Given the description of an element on the screen output the (x, y) to click on. 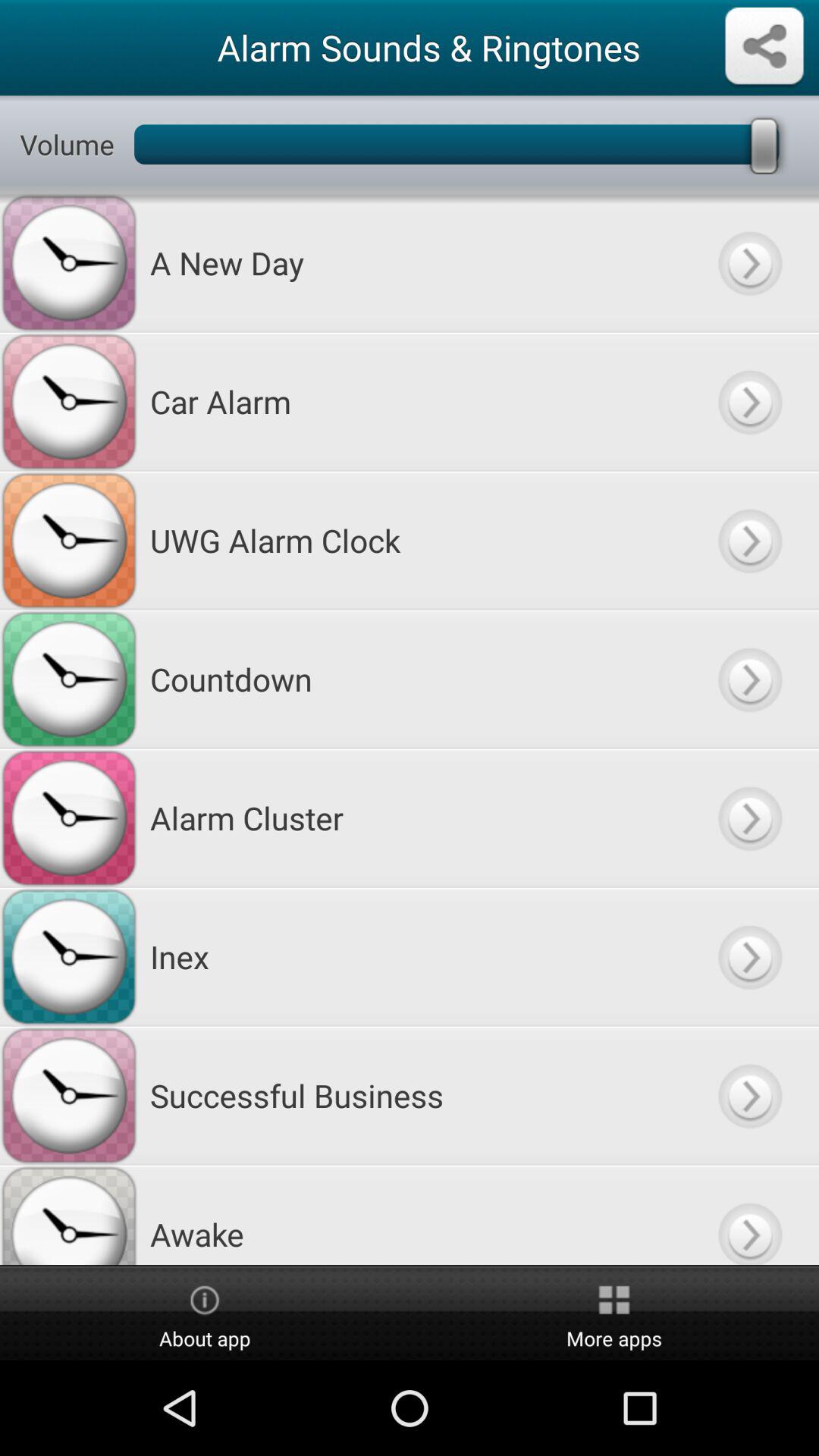
to select particular alarm sound or ringtone (749, 679)
